Given the description of an element on the screen output the (x, y) to click on. 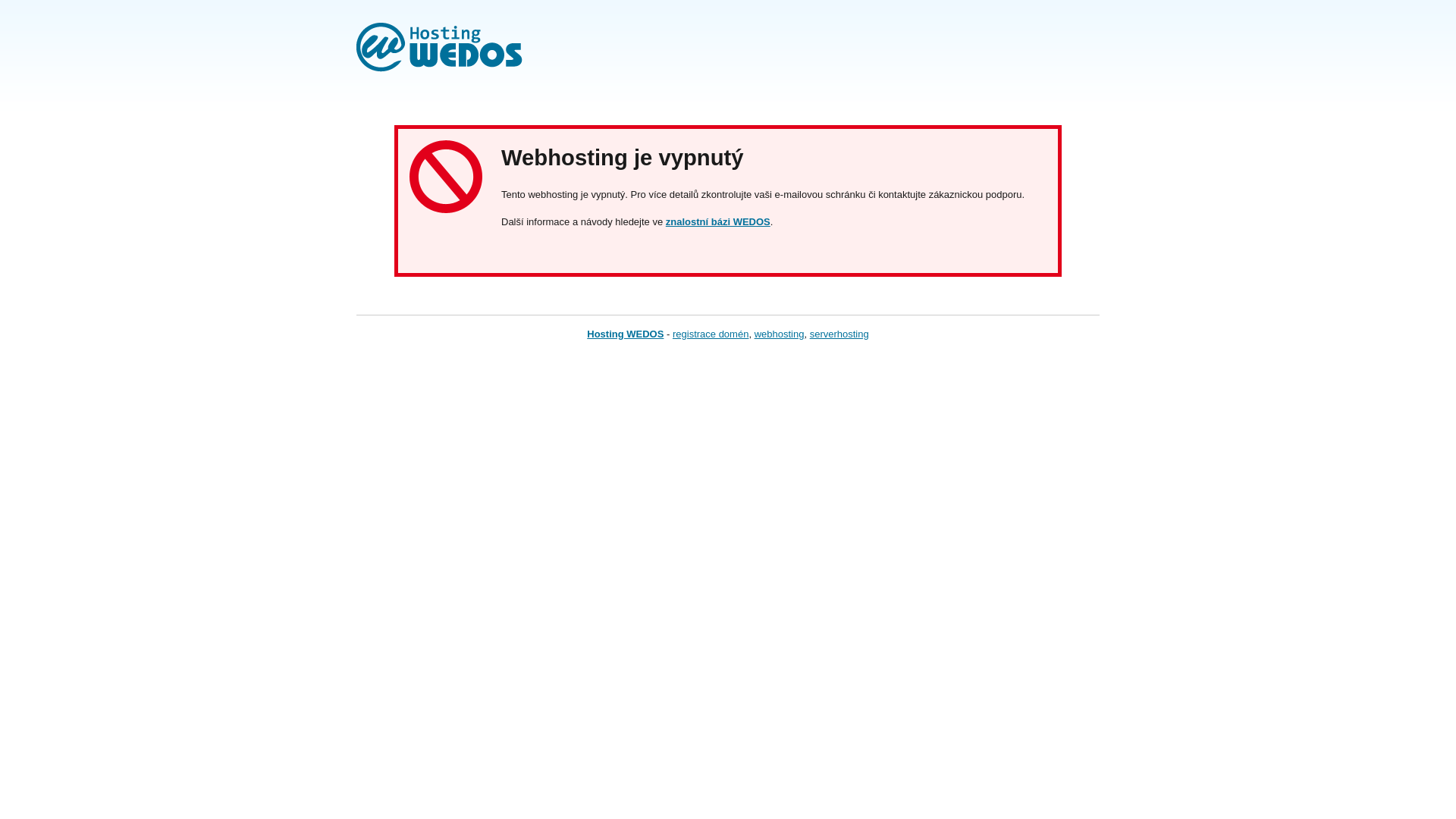
serverhosting (839, 333)
webhosting (779, 333)
Hosting WEDOS (624, 333)
